Given the description of an element on the screen output the (x, y) to click on. 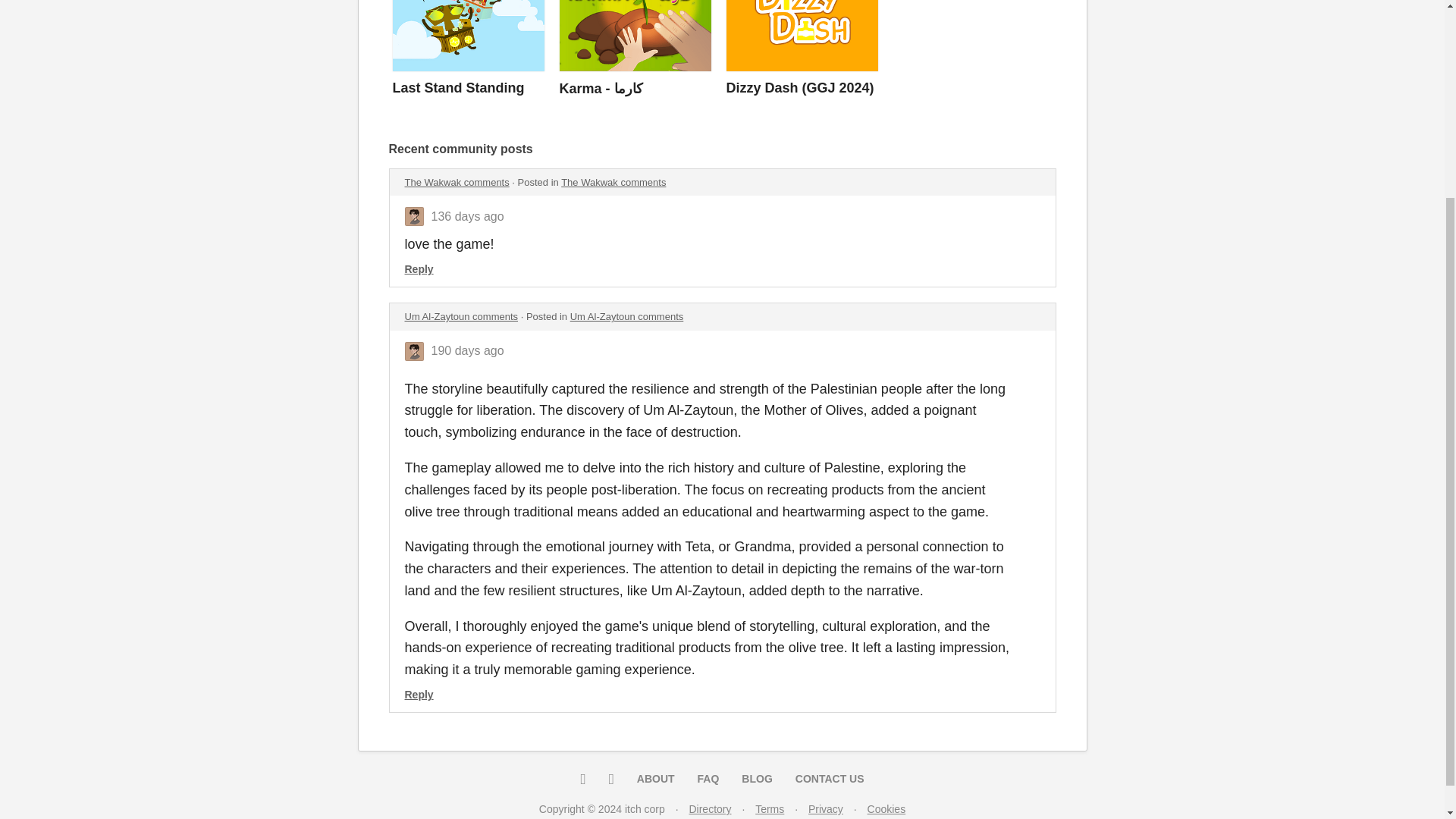
The Wakwak comments (456, 182)
The Wakwak comments (612, 182)
Last Stand Standing (458, 87)
2024-01-10 12:09:49 (466, 350)
2024-03-04 20:02:46 (466, 215)
